Given the description of an element on the screen output the (x, y) to click on. 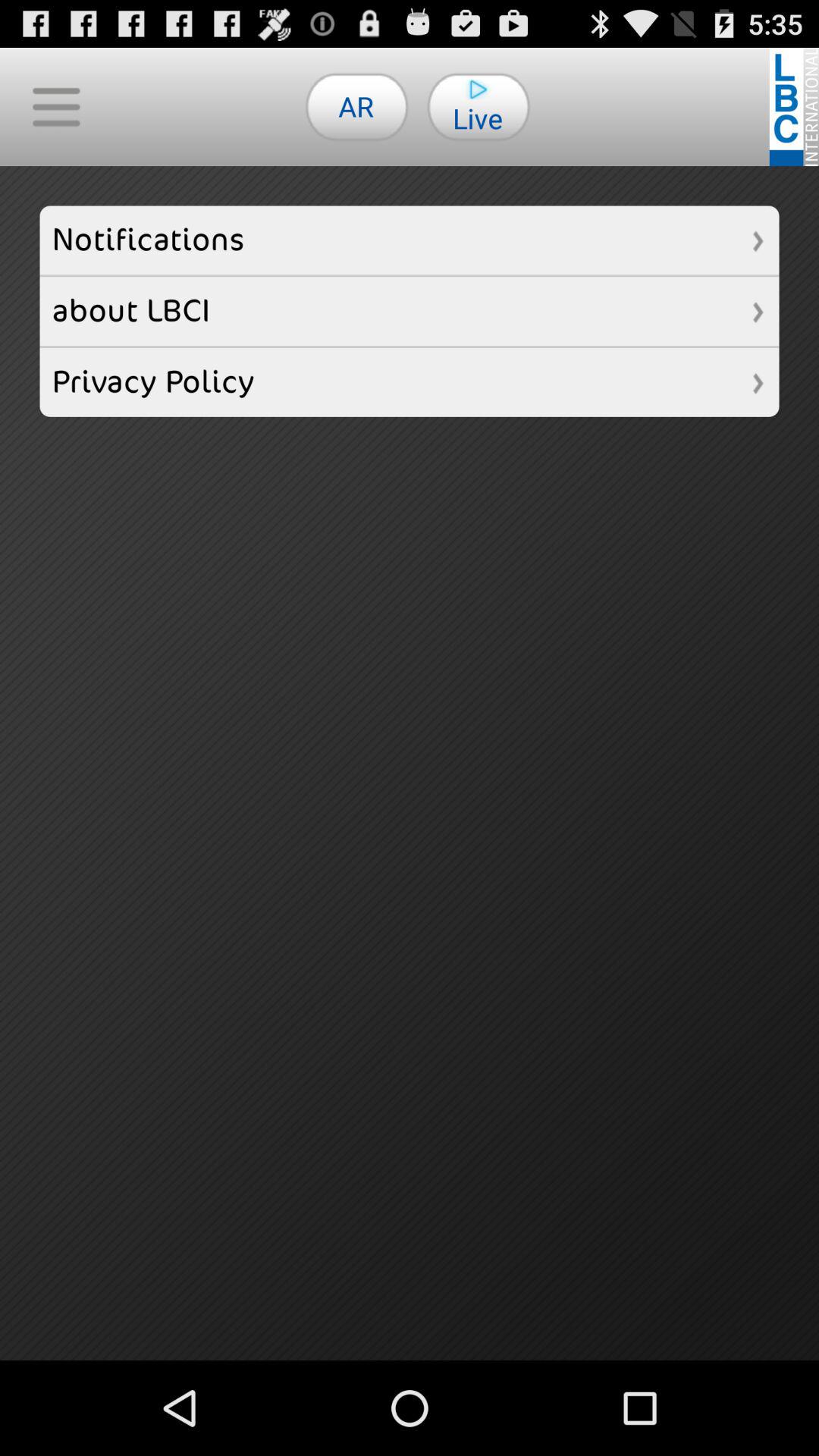
click the about lbci icon (409, 310)
